Given the description of an element on the screen output the (x, y) to click on. 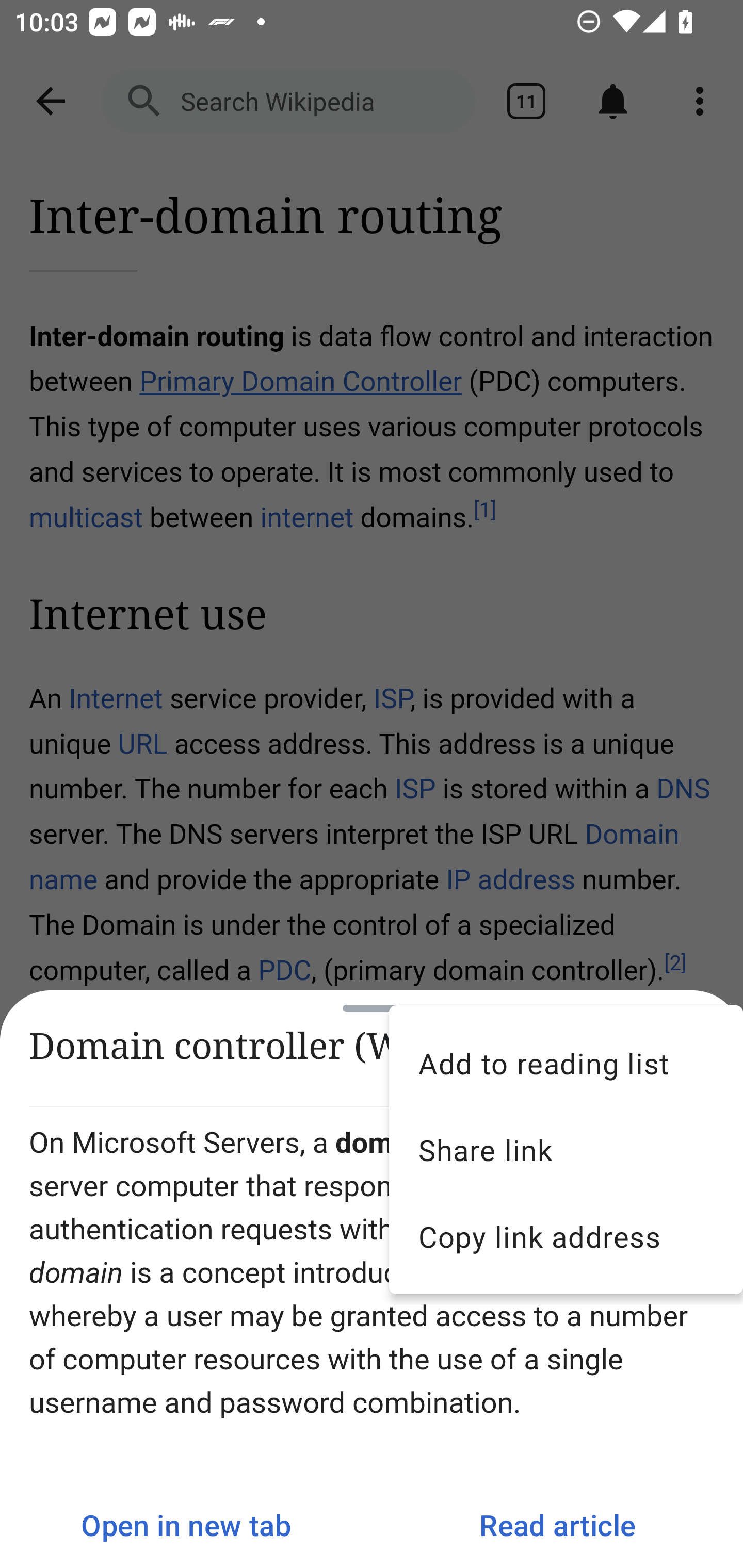
Add to reading list (566, 1063)
Share link (566, 1150)
Copy link address (566, 1236)
